Given the description of an element on the screen output the (x, y) to click on. 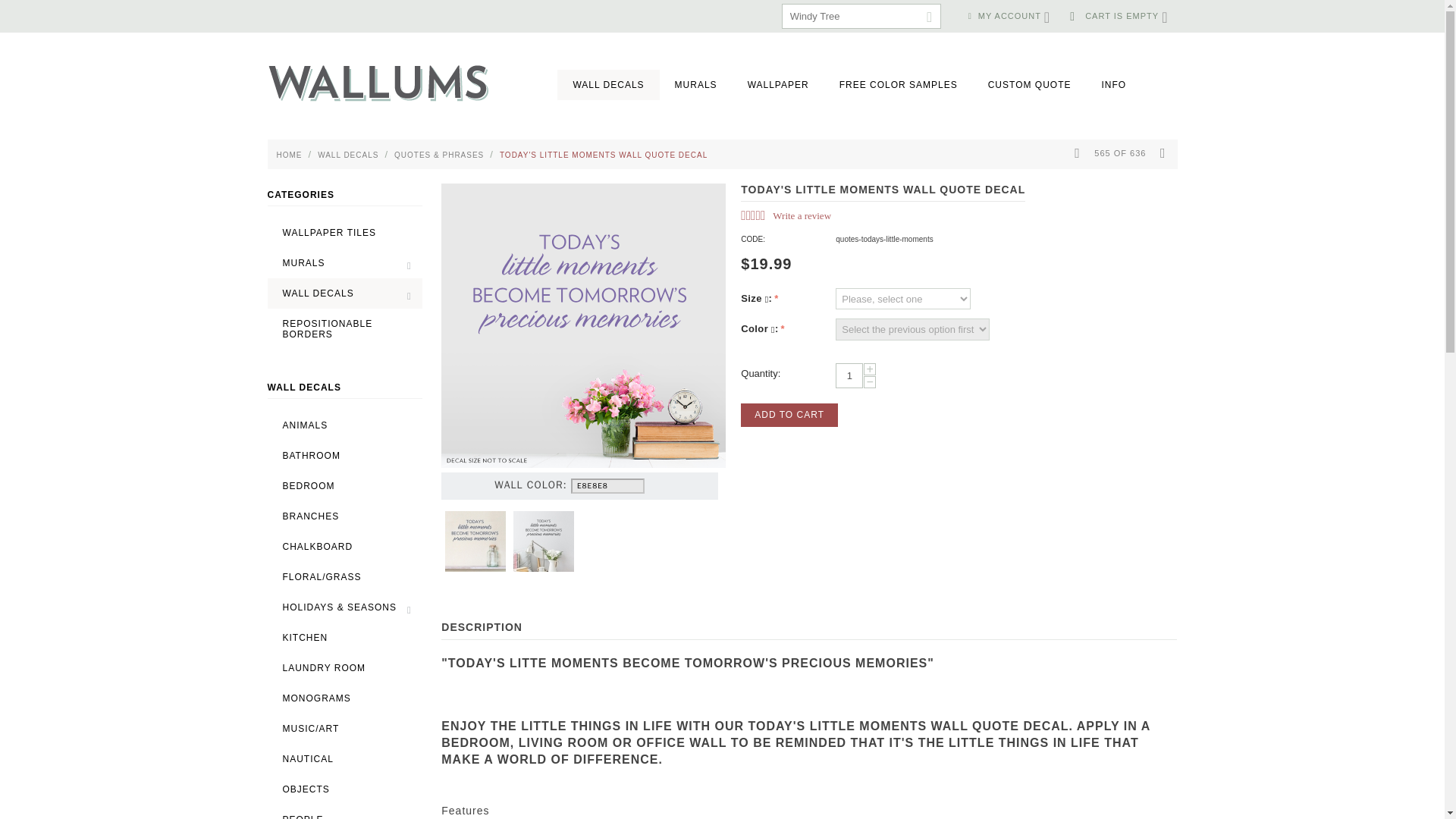
WALL DECALS (608, 84)
E8E8E8 (607, 485)
1 (849, 375)
Next (1163, 153)
  MY ACCOUNT (1008, 15)
Search products (860, 16)
Today's Little Moments Wall Quote Decal (543, 541)
Search (929, 17)
Prev (1077, 153)
Today's Little Moments Wall Quote Decal (475, 541)
CART IS EMPTY (1118, 15)
